Given the description of an element on the screen output the (x, y) to click on. 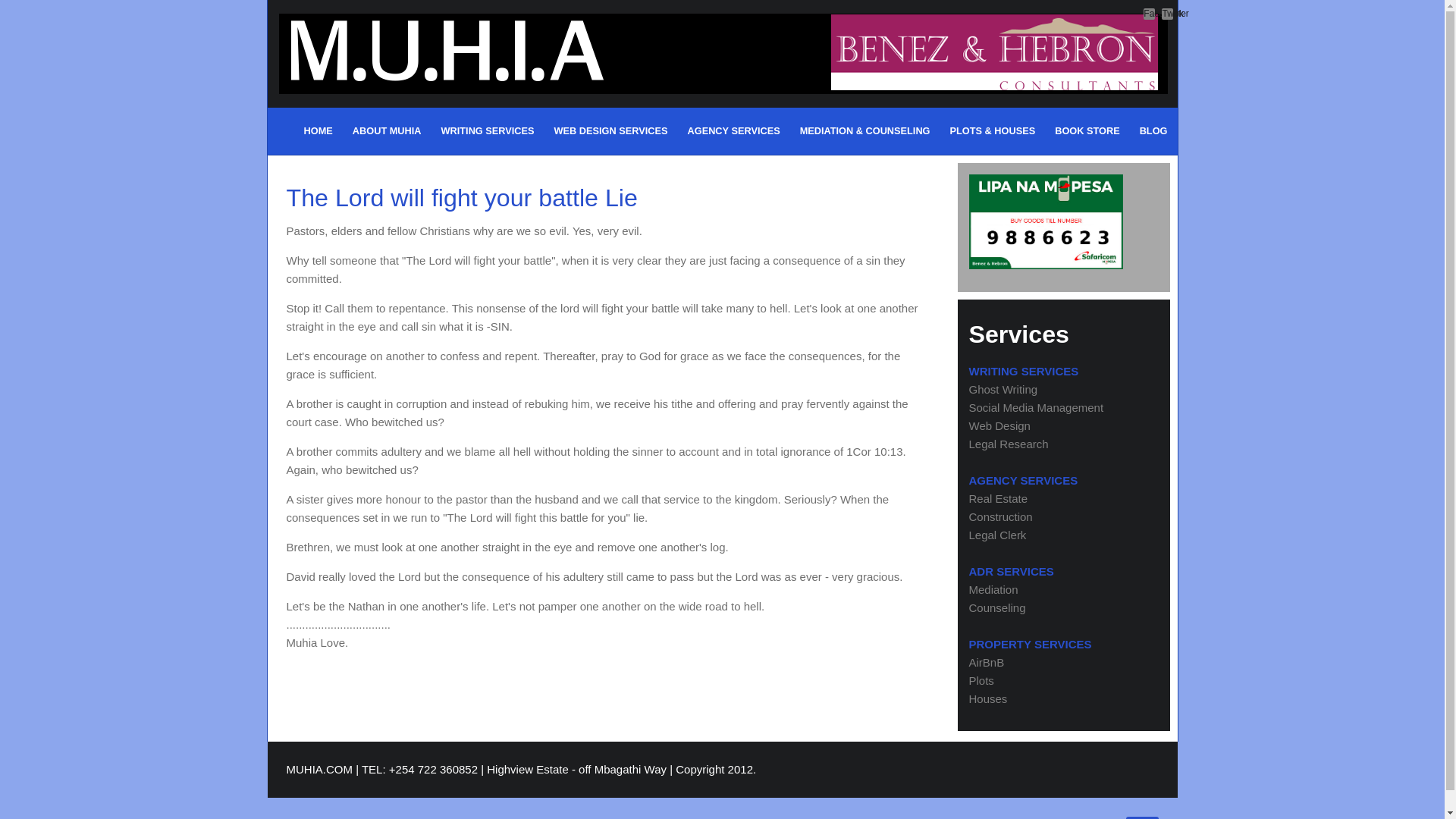
WEB DESIGN SERVICES (610, 130)
WRITING SERVICES (487, 130)
PROPERTY SERVICES (1030, 644)
WRITING SERVICES (1023, 370)
BLOG (1153, 130)
Facebook (1148, 13)
AGENCY SERVICES (1023, 480)
The Lord will fight your battle Lie (461, 197)
ADR SERVICES (1011, 571)
Twitter (1167, 13)
BOOK STORE (1086, 130)
AGENCY SERVICES (733, 130)
ABOUT MUHIA (386, 130)
HOME (318, 130)
